Given the description of an element on the screen output the (x, y) to click on. 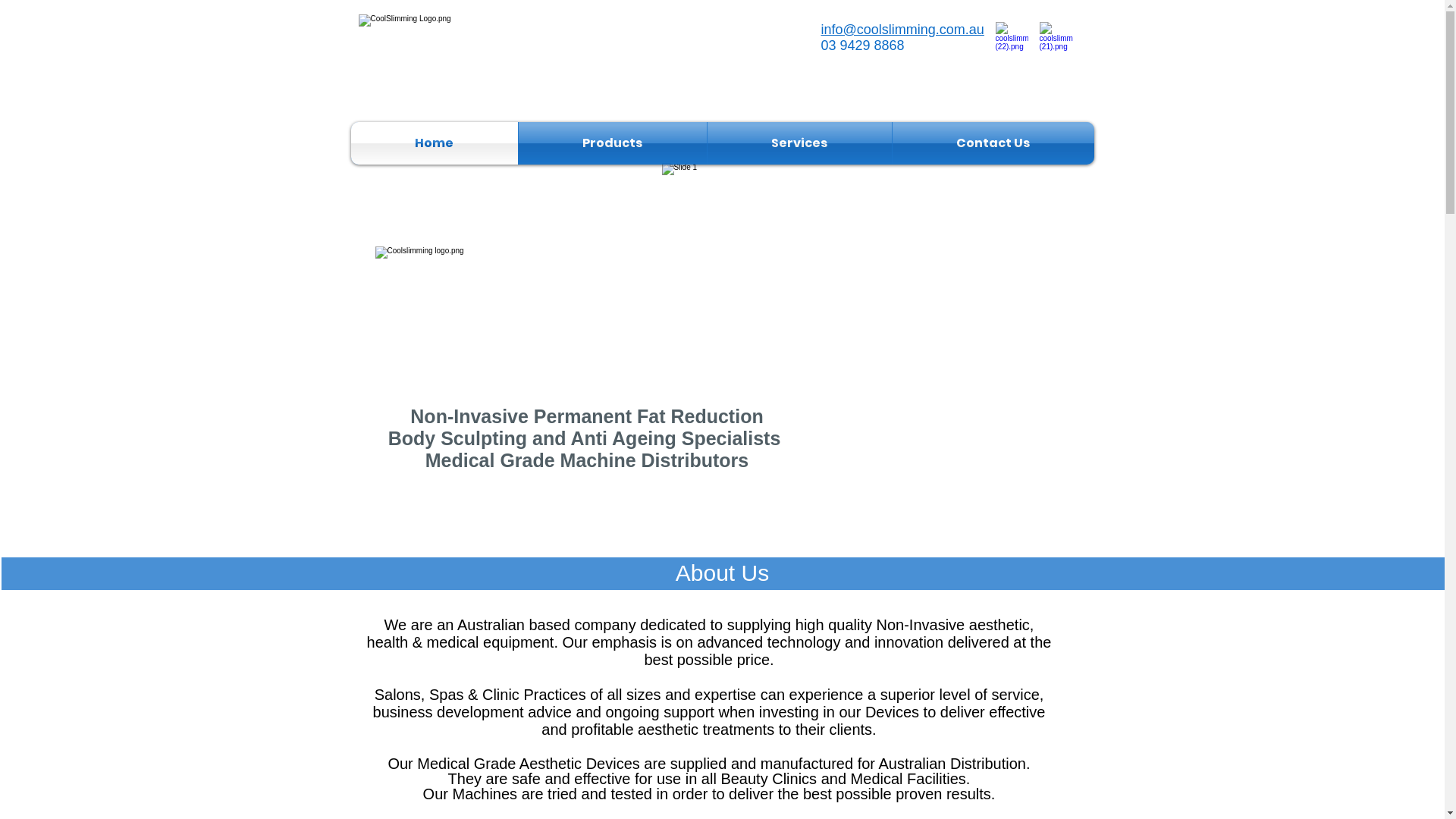
Products Element type: text (612, 143)
03 9429 8868 Element type: text (861, 45)
Services Element type: text (798, 143)
Contact Us Element type: text (992, 143)
info@coolslimming.com.au Element type: text (901, 29)
Home Element type: text (433, 143)
